Given the description of an element on the screen output the (x, y) to click on. 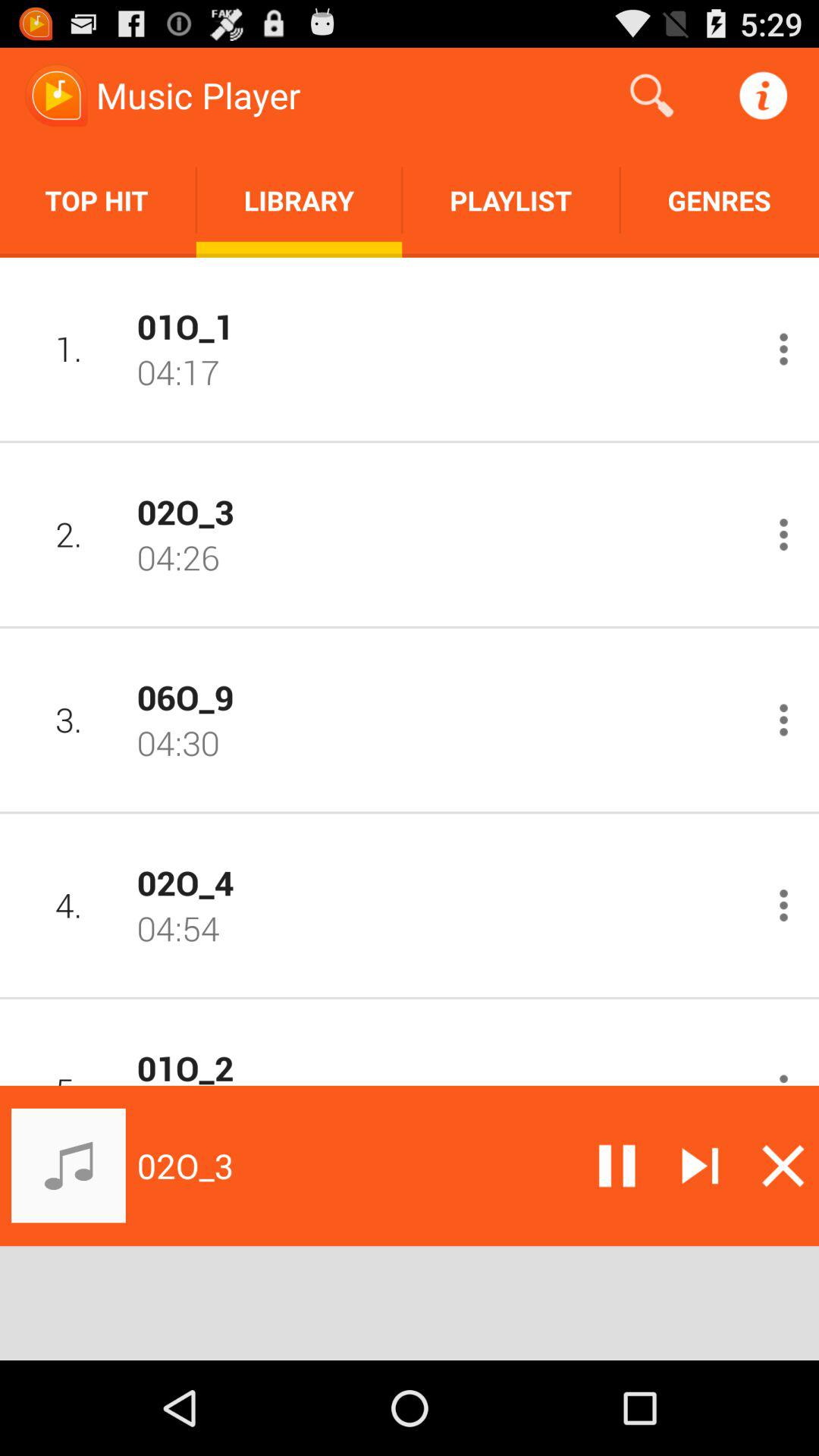
turn off item next to the playlist item (719, 200)
